Given the description of an element on the screen output the (x, y) to click on. 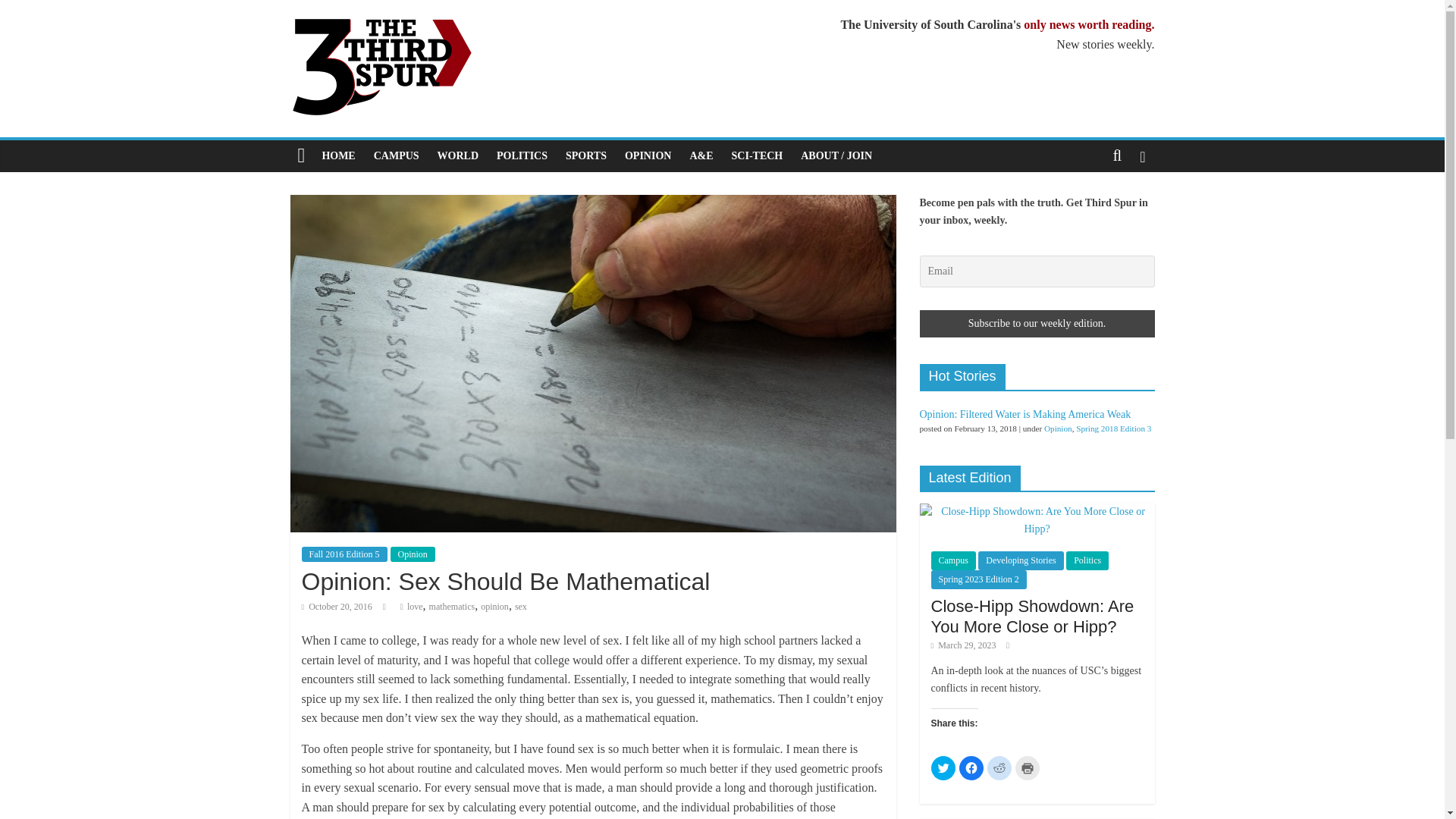
WORLD (457, 155)
love (415, 606)
POLITICS (521, 155)
sex (521, 606)
Fall 2016 Edition 5 (344, 554)
mathematics (452, 606)
Opinion (411, 554)
9:16 pm (336, 606)
October 20, 2016 (336, 606)
opinion (494, 606)
